Given the description of an element on the screen output the (x, y) to click on. 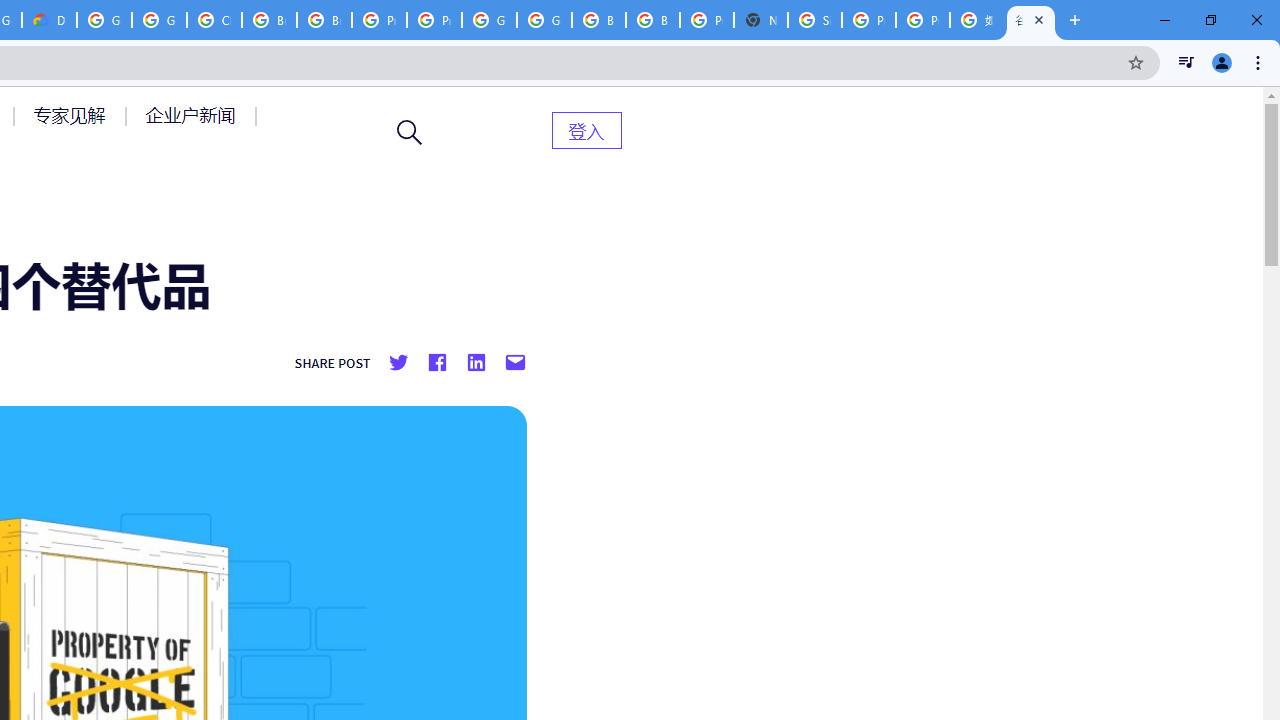
AutomationID: menu-item-77765 (194, 115)
Sign in - Google Accounts (815, 20)
Google Cloud Platform (103, 20)
Google Cloud Platform (489, 20)
Share on twitter (397, 363)
Browse Chrome as a guest - Computer - Google Chrome Help (324, 20)
New Tab (760, 20)
Browse Chrome as a guest - Computer - Google Chrome Help (598, 20)
